Given the description of an element on the screen output the (x, y) to click on. 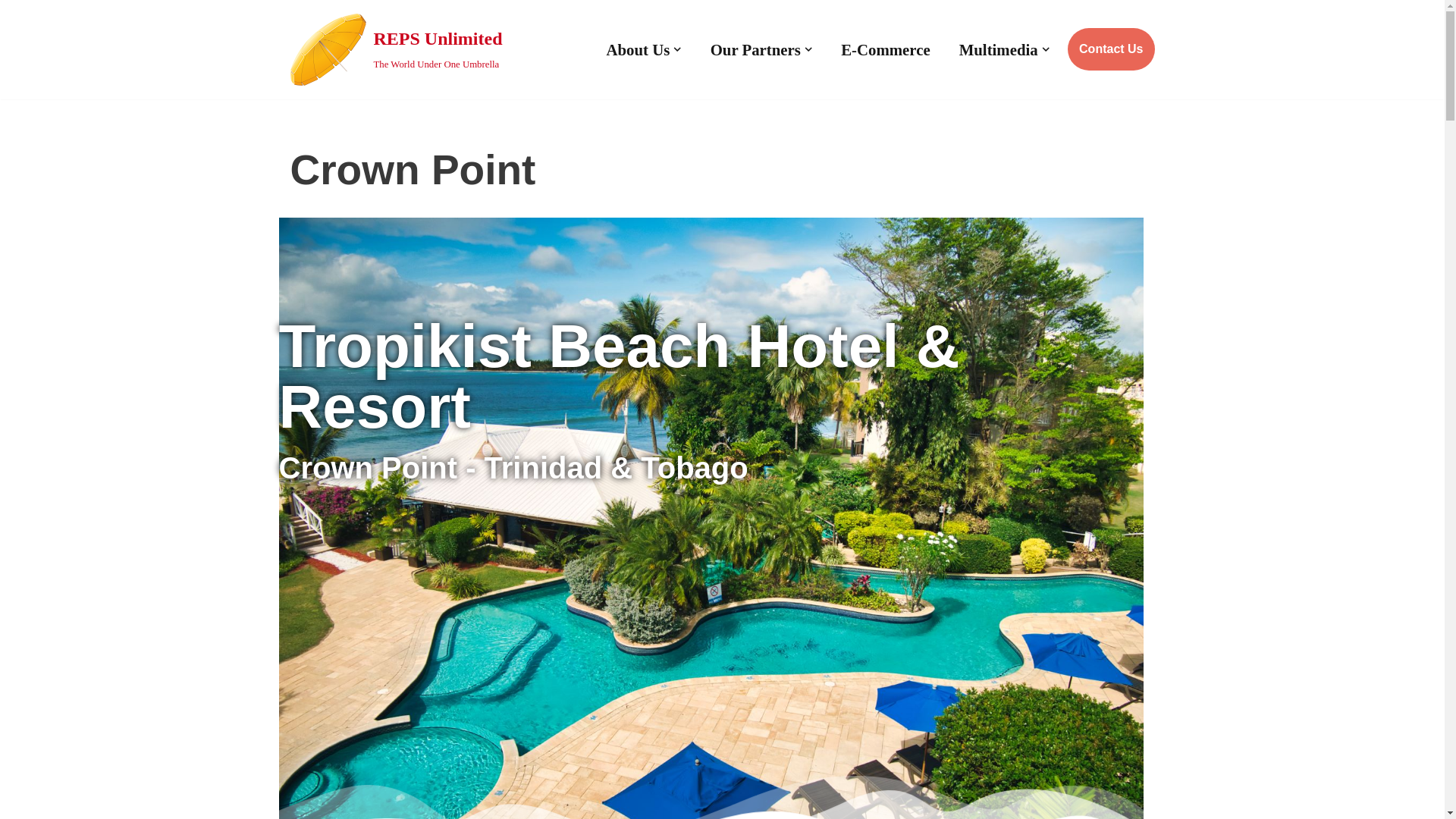
Skip to content (11, 31)
Contact Us (1110, 48)
Our Partners (395, 49)
Multimedia (755, 49)
E-Commerce (998, 49)
About Us (885, 49)
